Given the description of an element on the screen output the (x, y) to click on. 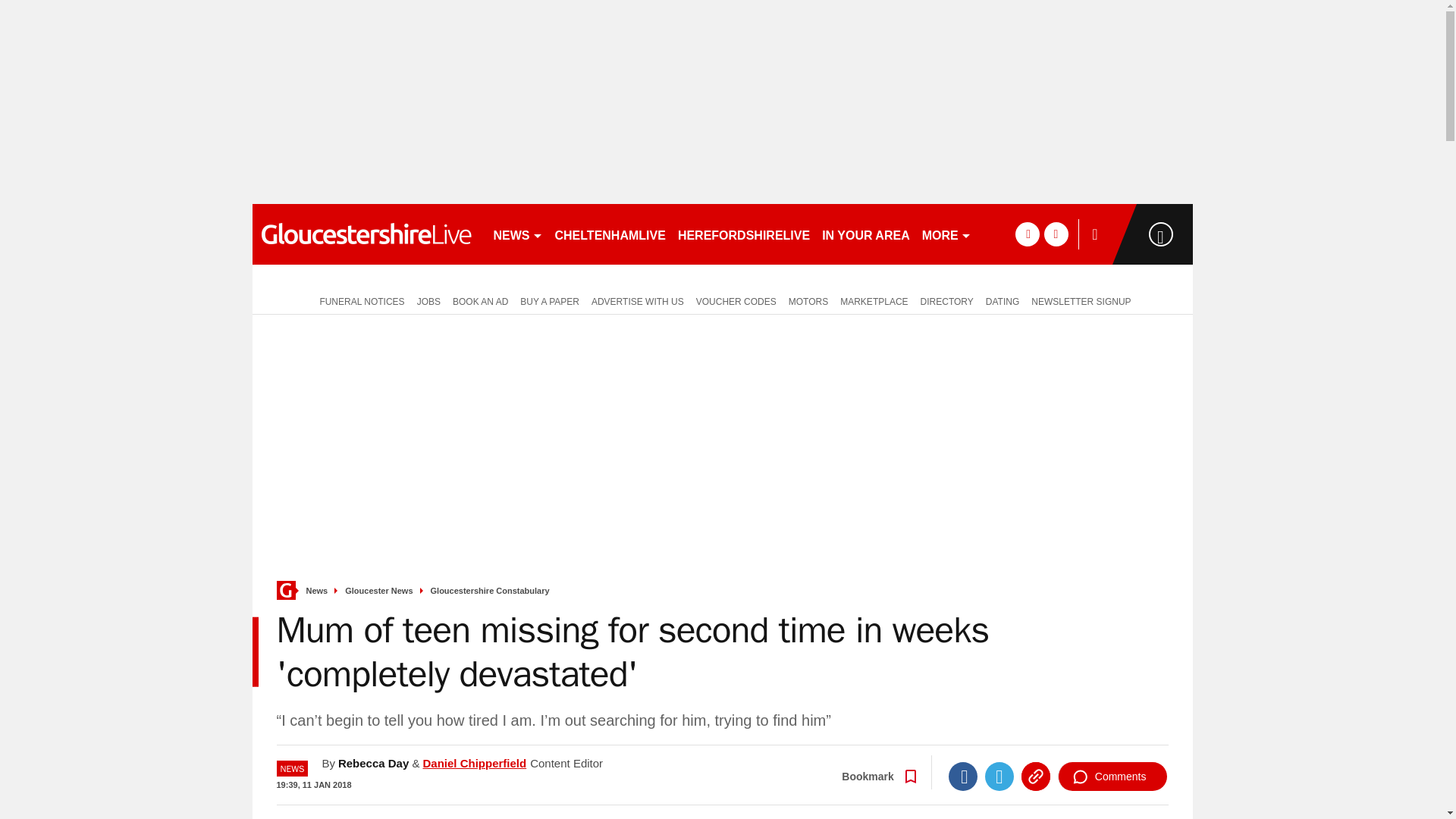
facebook (1026, 233)
Comments (1112, 776)
IN YOUR AREA (865, 233)
HEREFORDSHIRELIVE (743, 233)
NEWS (517, 233)
CHELTENHAMLIVE (609, 233)
gloucestershirelive (365, 233)
MORE (945, 233)
Twitter (999, 776)
twitter (1055, 233)
